Given the description of an element on the screen output the (x, y) to click on. 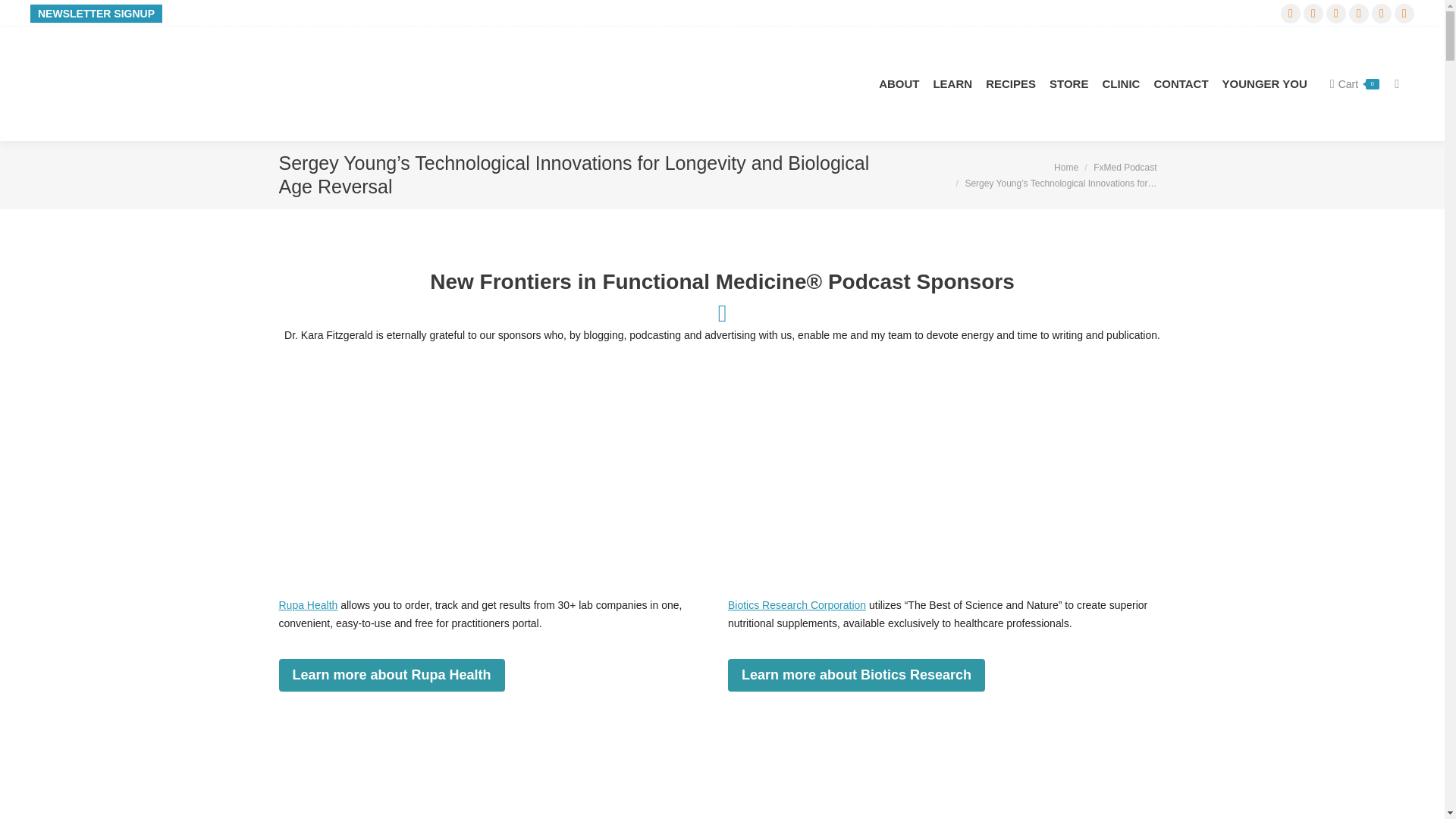
YouTube page opens in new window (1335, 12)
Pinterest page opens in new window (1313, 12)
Twitter page opens in new window (1381, 12)
CONTACT (1180, 83)
SoundCloud page opens in new window (1290, 12)
Facebook page opens in new window (1403, 12)
Pinterest page opens in new window (1313, 12)
YOUNGER YOU (1265, 83)
RECIPES (1010, 83)
SoundCloud page opens in new window (1290, 12)
